Given the description of an element on the screen output the (x, y) to click on. 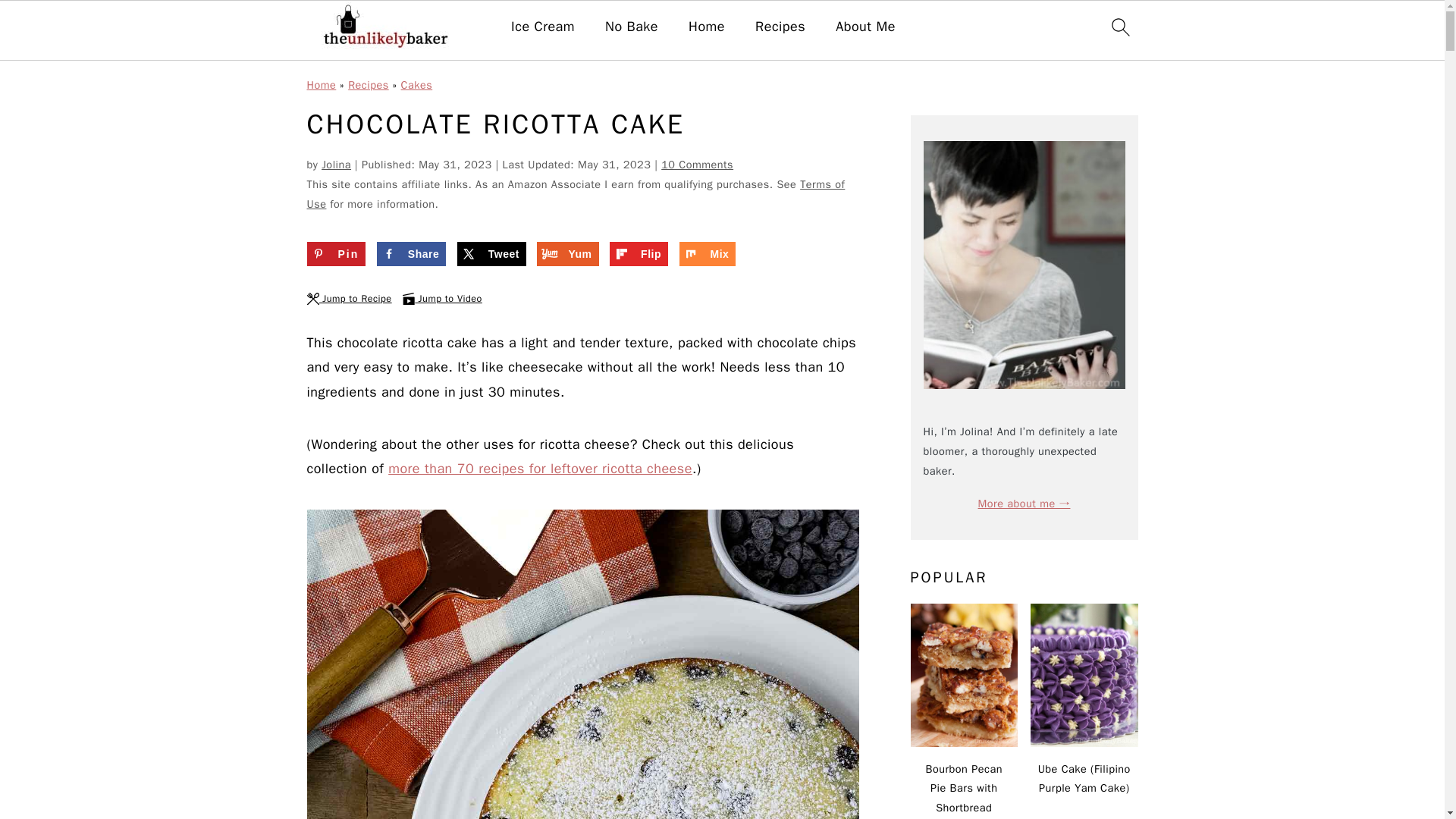
Share on Mix (707, 253)
Home (706, 27)
Jump to Recipe (348, 298)
Share on Yummly (567, 253)
search icon (1119, 26)
Save to Pinterest (335, 253)
Ice Cream (543, 27)
Recipes (780, 27)
Share on Flipboard (639, 253)
No Bake (631, 27)
Share on X (491, 253)
Jump to Video (442, 298)
About Me (865, 27)
Share on Facebook (411, 253)
